Given the description of an element on the screen output the (x, y) to click on. 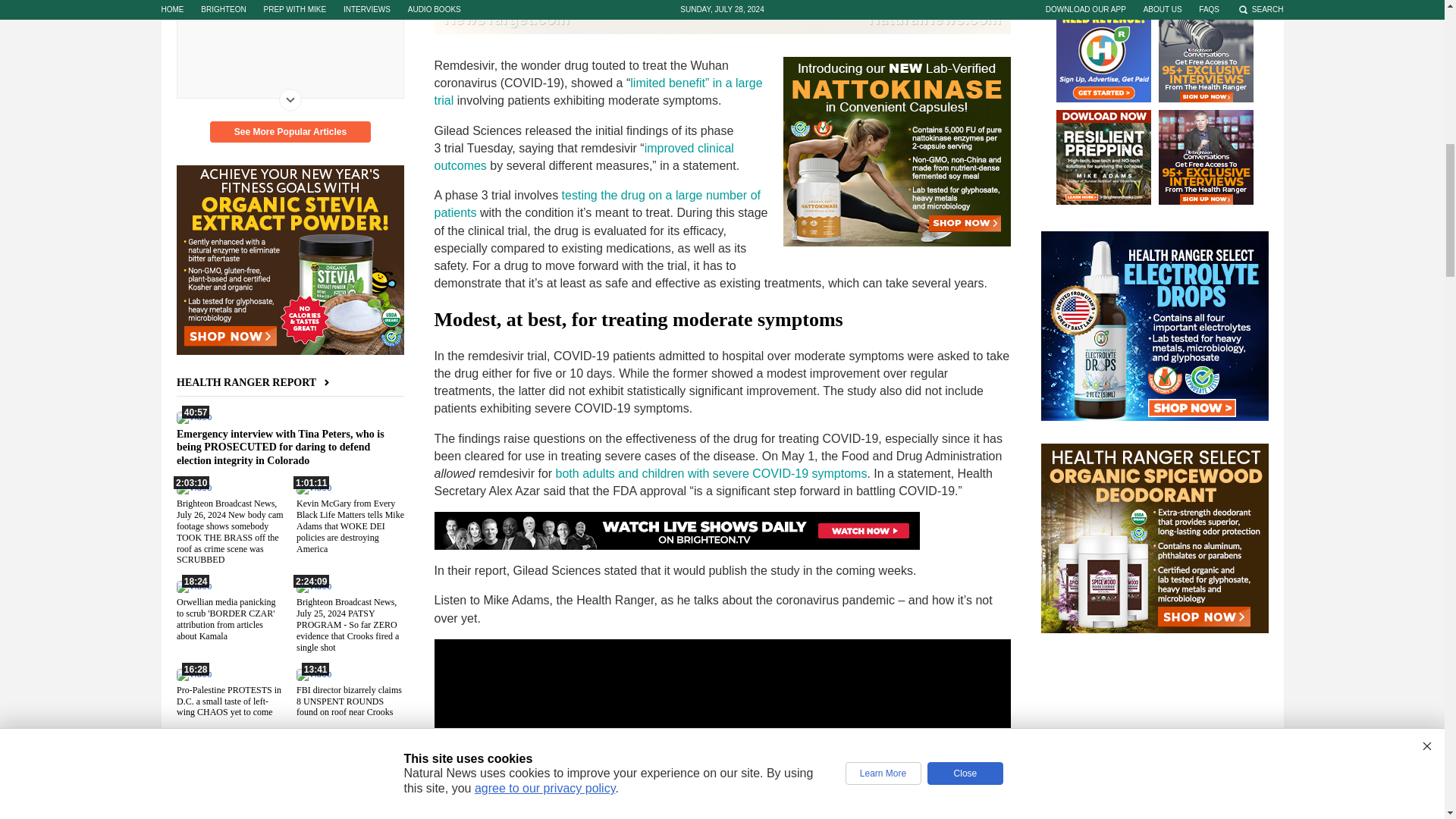
2:03:10 (193, 487)
Scroll Down (290, 99)
1:01:11 (312, 487)
40:57 (193, 416)
See More Popular Articles (289, 131)
HEALTH RANGER REPORT (254, 382)
